Given the description of an element on the screen output the (x, y) to click on. 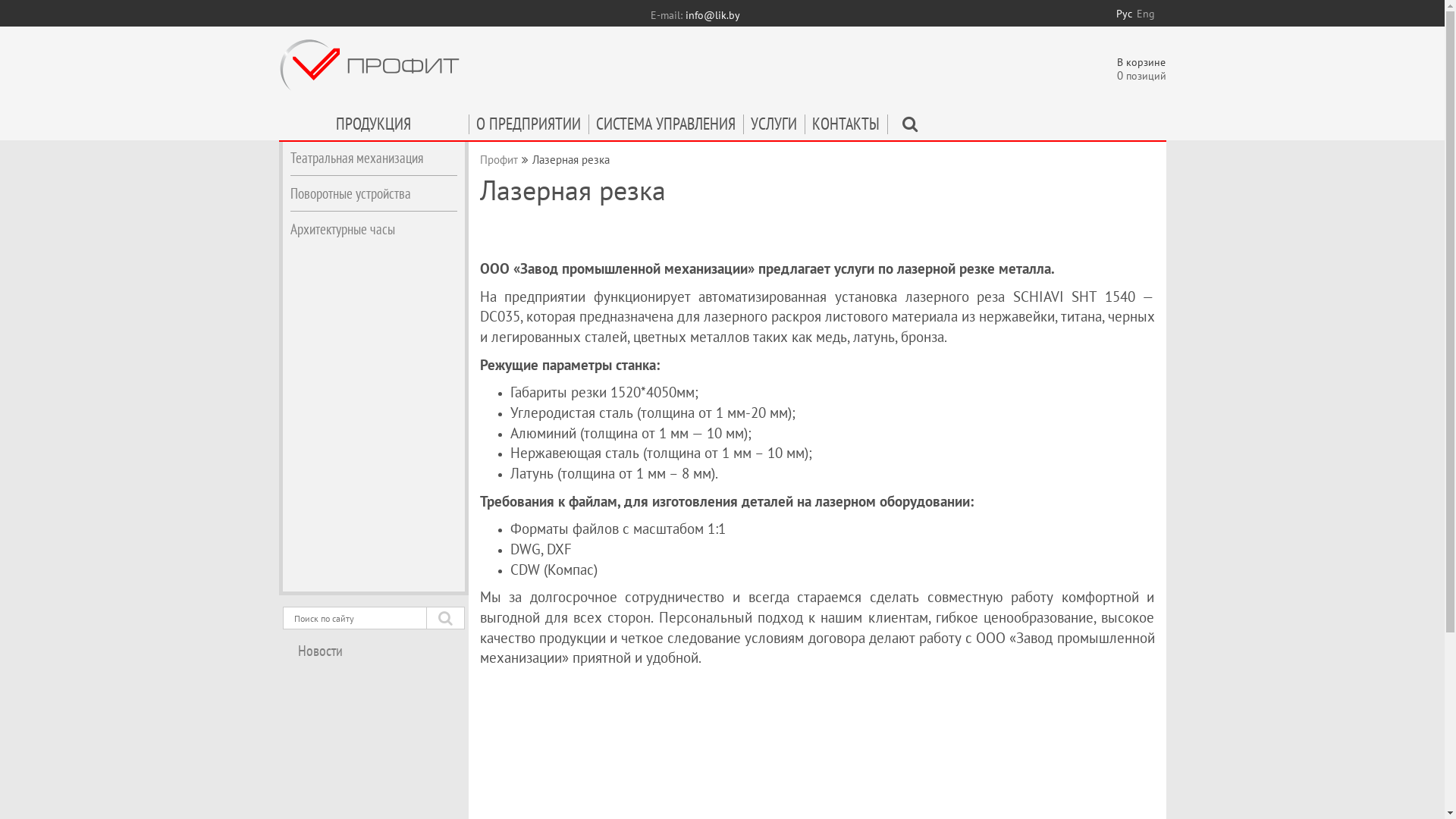
Eng Element type: text (1144, 13)
